Given the description of an element on the screen output the (x, y) to click on. 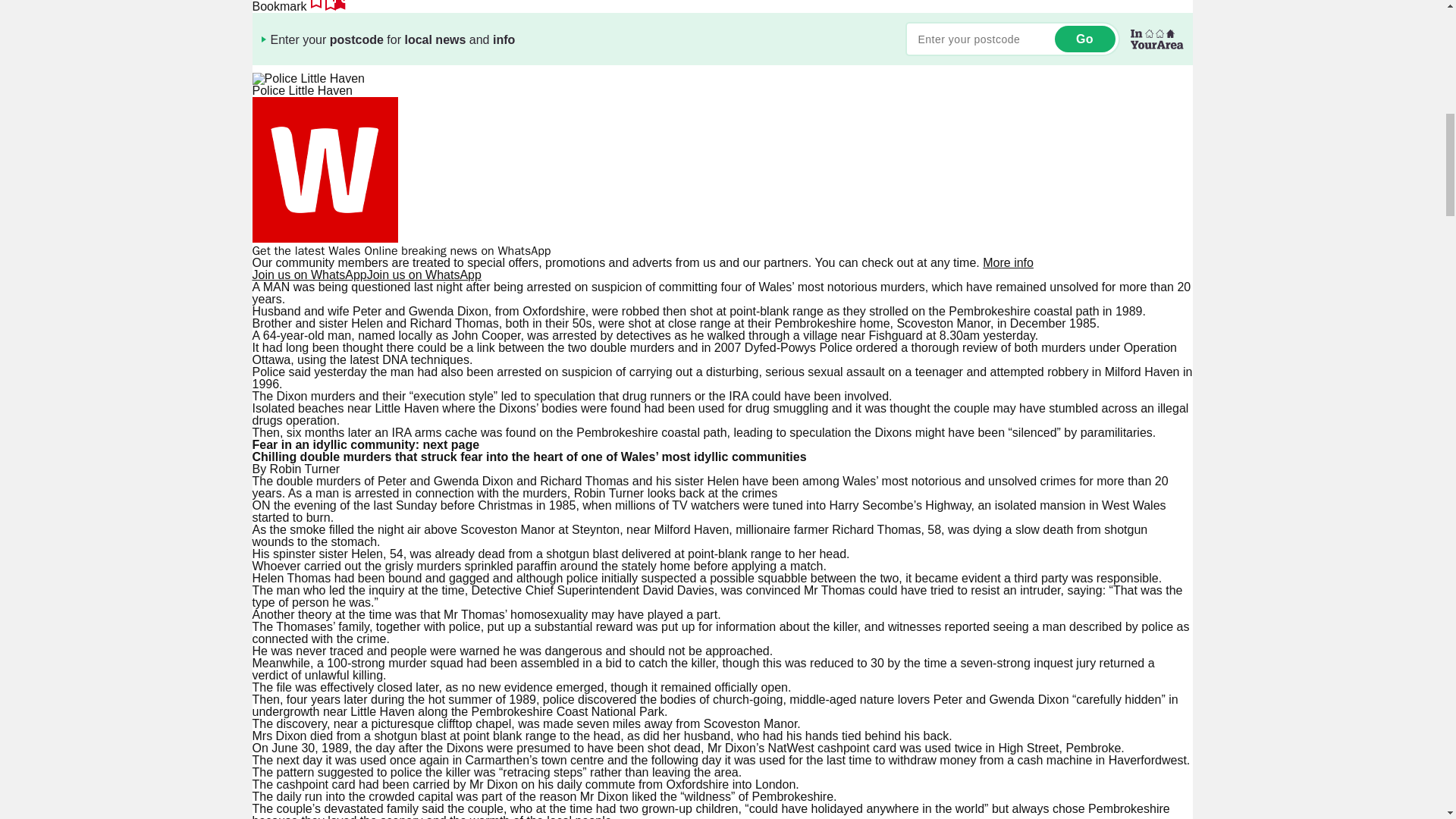
Go (1084, 38)
